Given the description of an element on the screen output the (x, y) to click on. 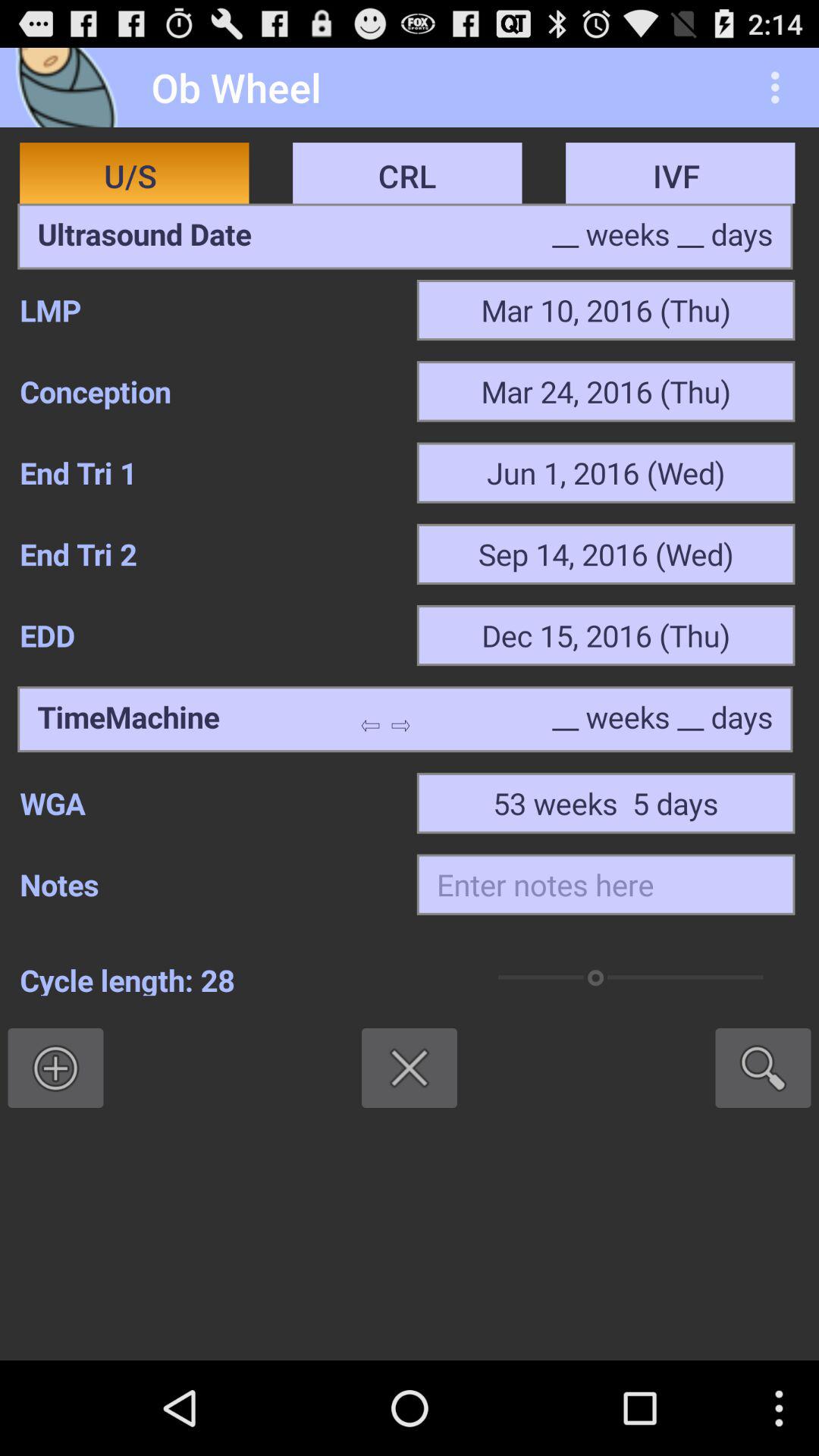
go to home screen (71, 87)
